Given the description of an element on the screen output the (x, y) to click on. 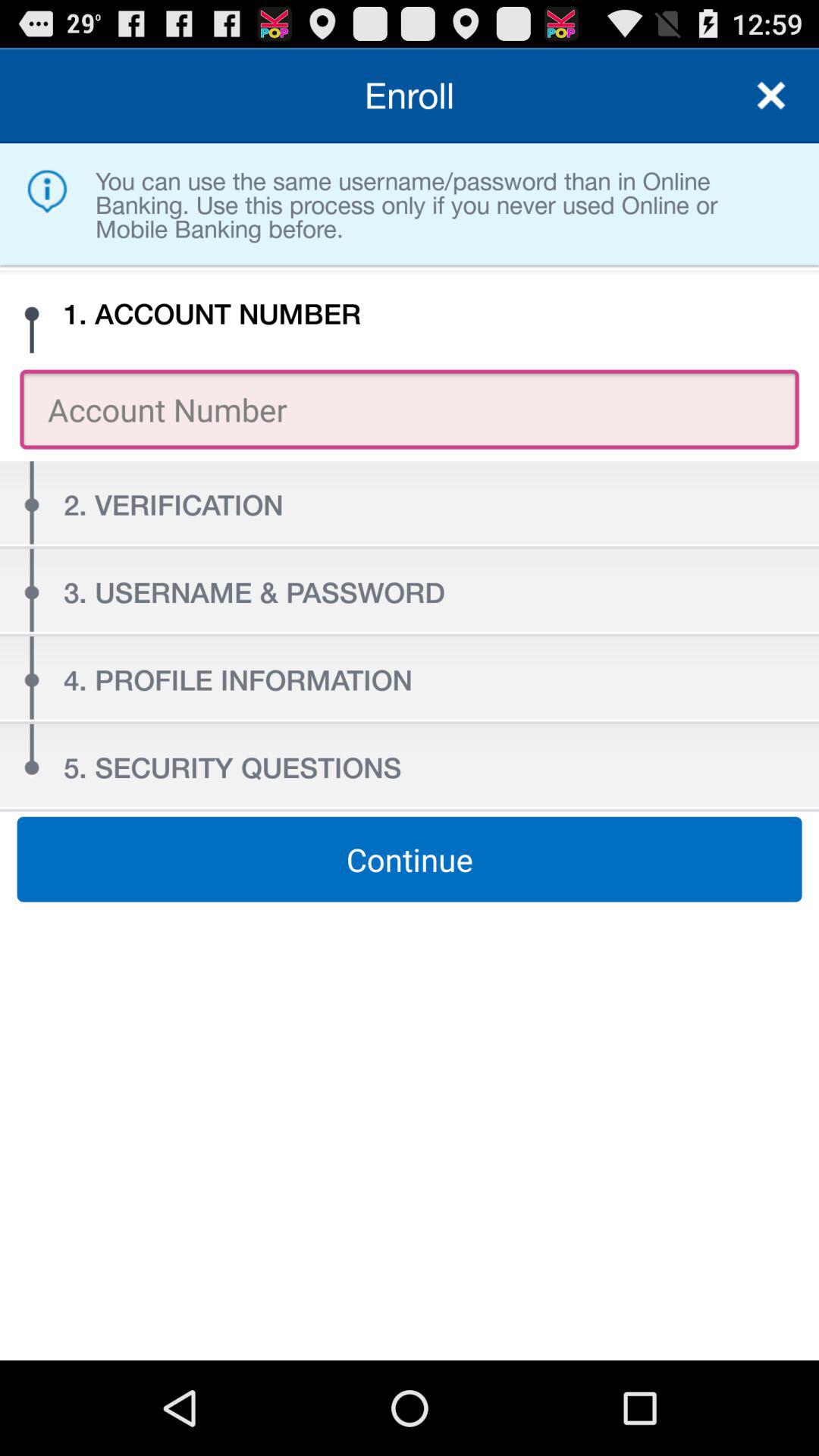
swipe to the enroll item (409, 95)
